Given the description of an element on the screen output the (x, y) to click on. 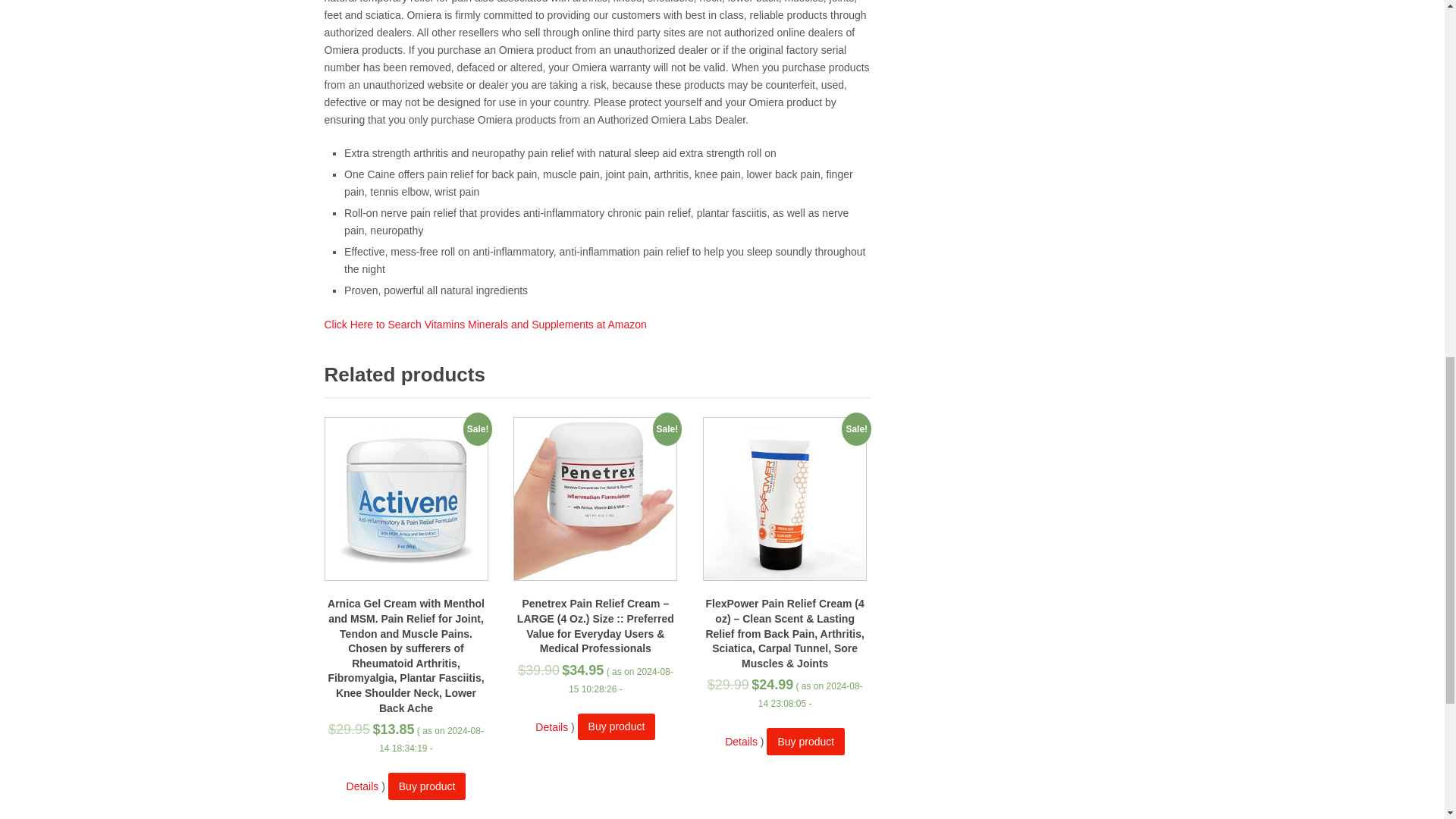
Details (362, 786)
Details (741, 741)
Buy product (805, 741)
Details (551, 726)
Buy product (426, 786)
Buy product (617, 726)
